Given the description of an element on the screen output the (x, y) to click on. 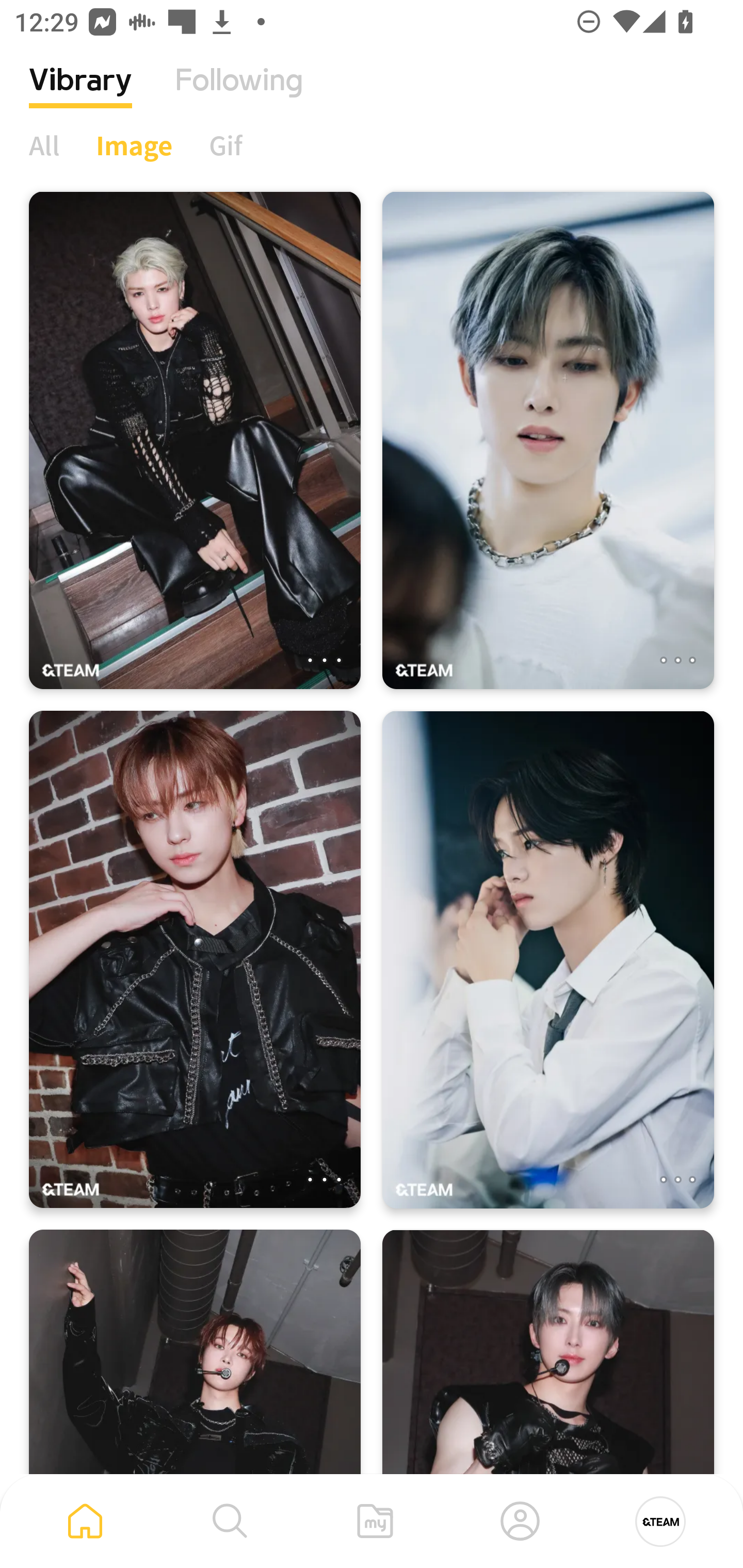
Vibrary (80, 95)
Following (239, 95)
All (44, 145)
Image (134, 145)
Gif (225, 145)
